Given the description of an element on the screen output the (x, y) to click on. 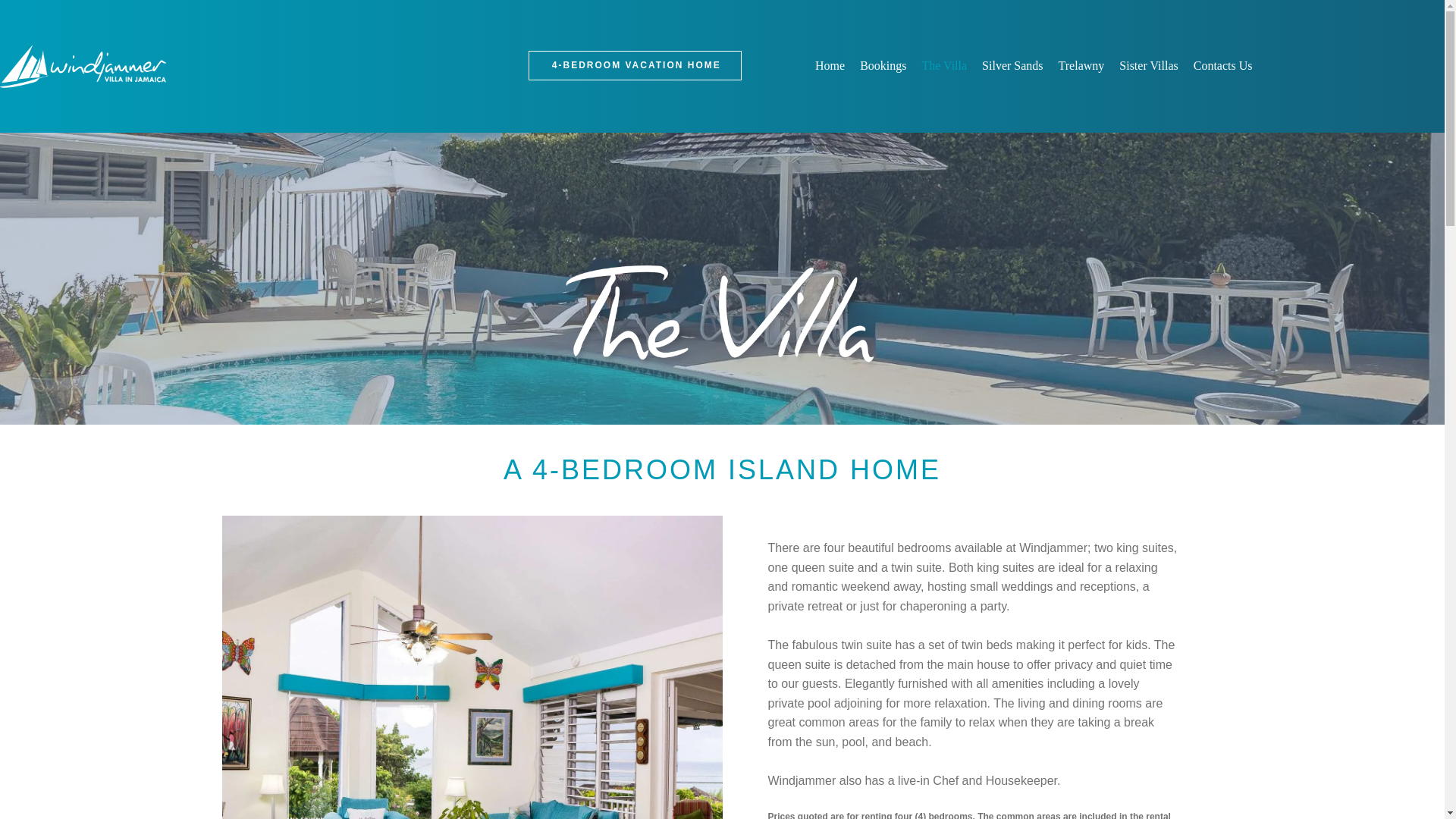
Bookings (882, 65)
Contacts Us (1223, 65)
Silver Sands (1011, 65)
Home (829, 65)
Sister Villas (1148, 65)
Home (83, 66)
The Villa (944, 65)
 4-BEDROOM VACATION HOME (634, 65)
Trelawny (1081, 65)
Trelawny (1148, 65)
